Given the description of an element on the screen output the (x, y) to click on. 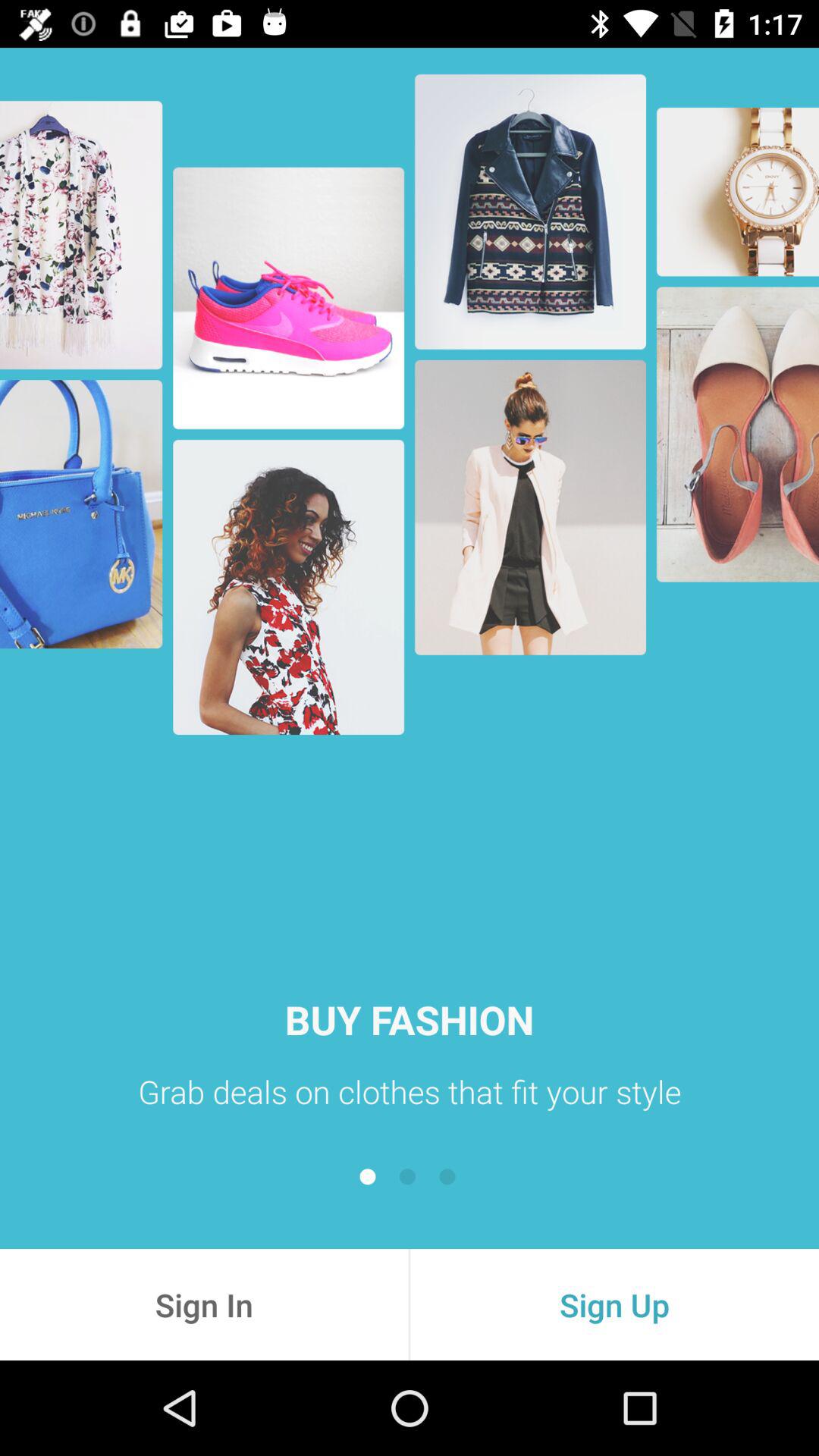
select the icon next to sign in (614, 1304)
